Given the description of an element on the screen output the (x, y) to click on. 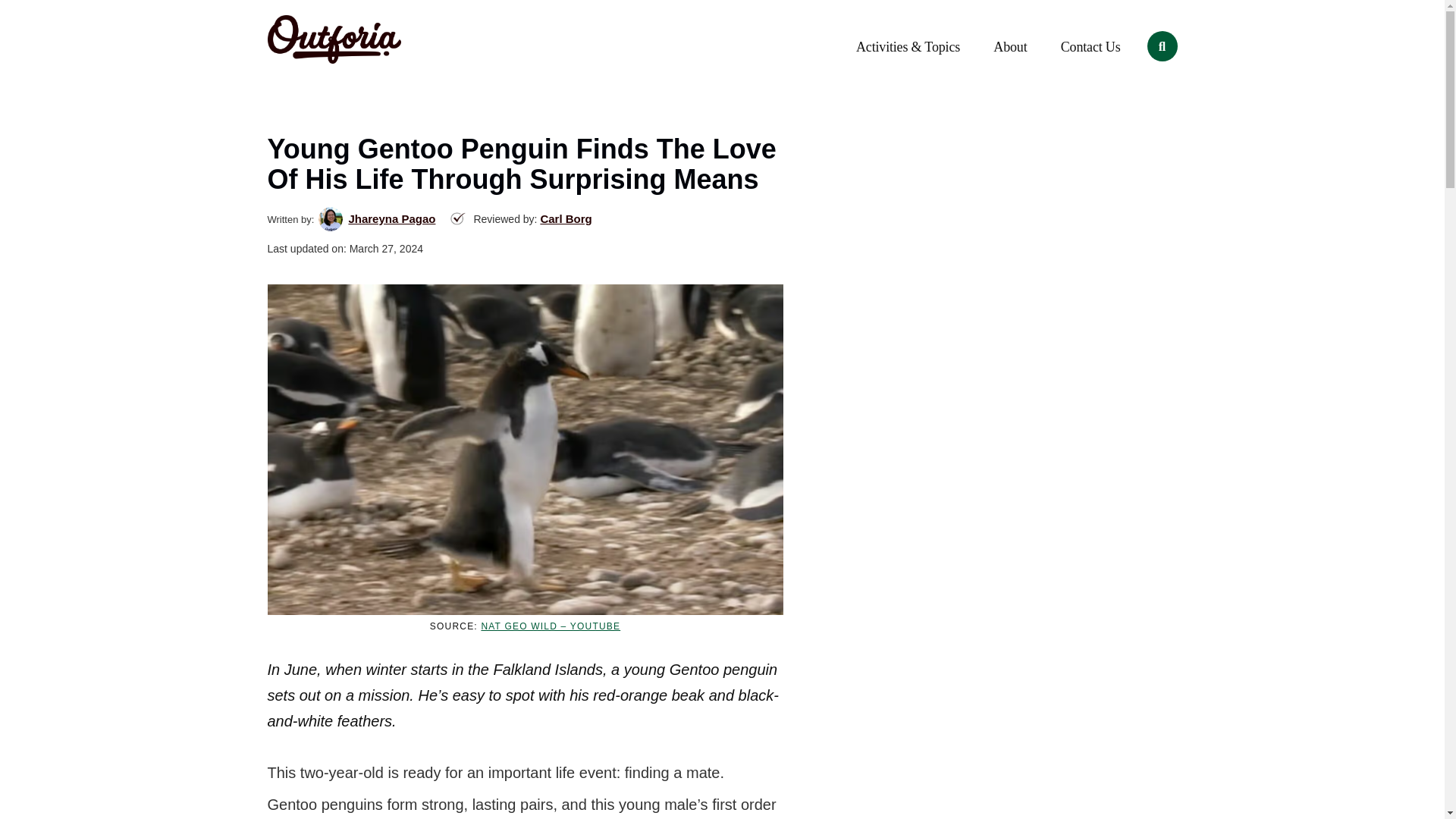
Carl Borg (565, 218)
Contact Us (1090, 47)
Jhareyna Pagao (391, 218)
About (1010, 47)
